Given the description of an element on the screen output the (x, y) to click on. 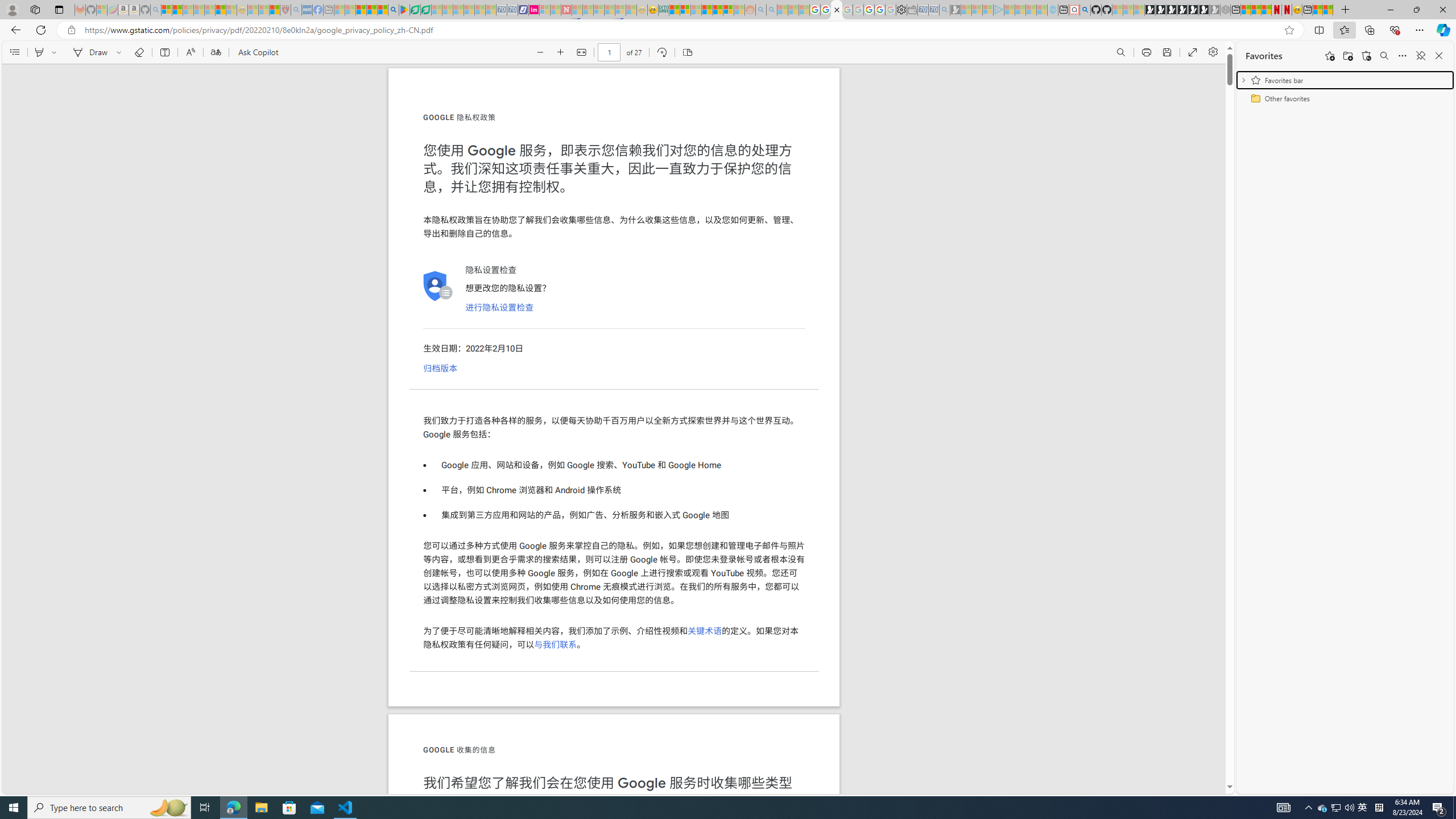
Settings and more (1212, 52)
Page view (687, 52)
Local - MSN (274, 9)
Select ink properties (120, 52)
Add folder (1347, 55)
github - Search (1084, 9)
